Given the description of an element on the screen output the (x, y) to click on. 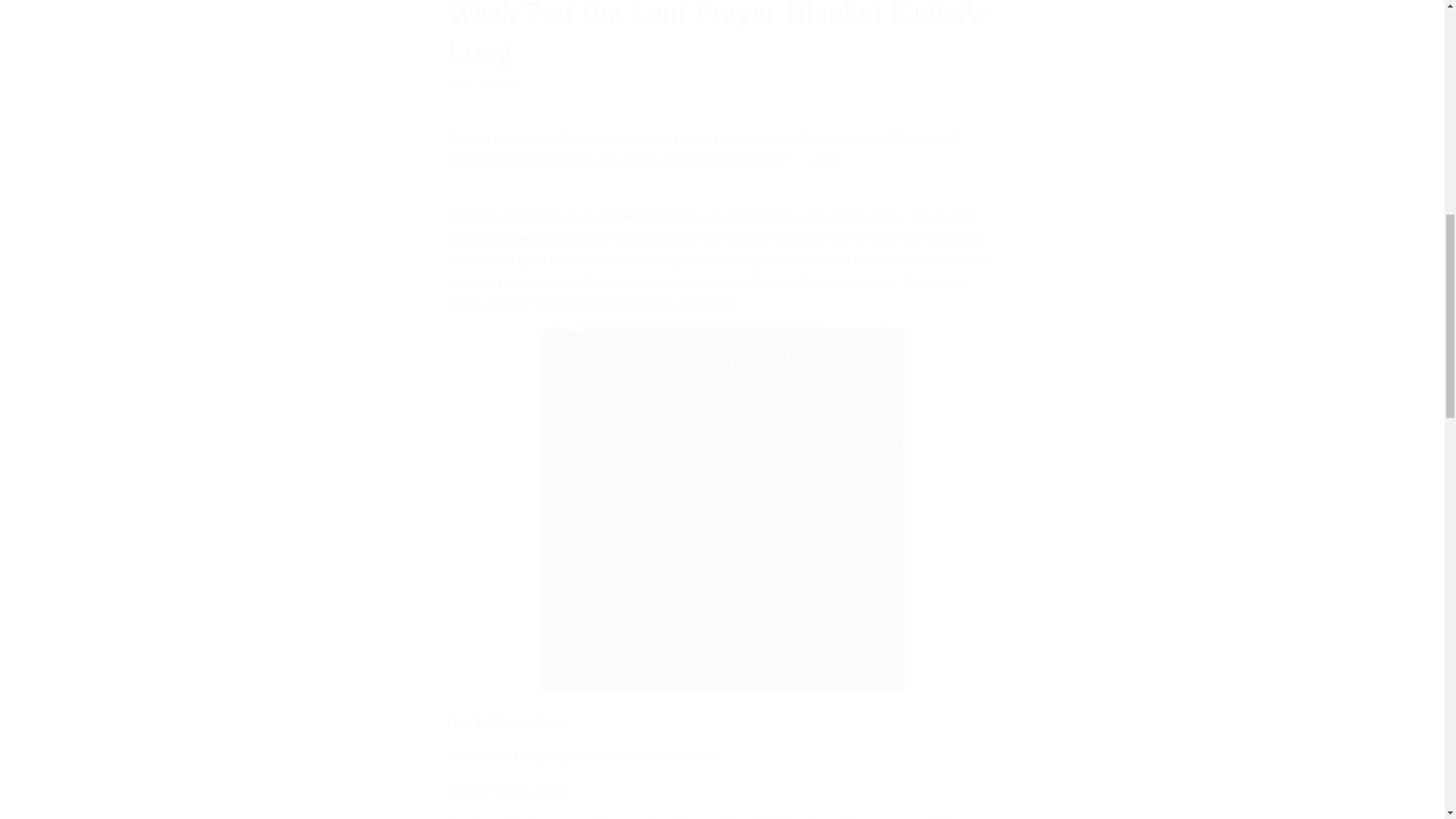
Supplies needed to make a Lent prayer blanket (721, 45)
